Given the description of an element on the screen output the (x, y) to click on. 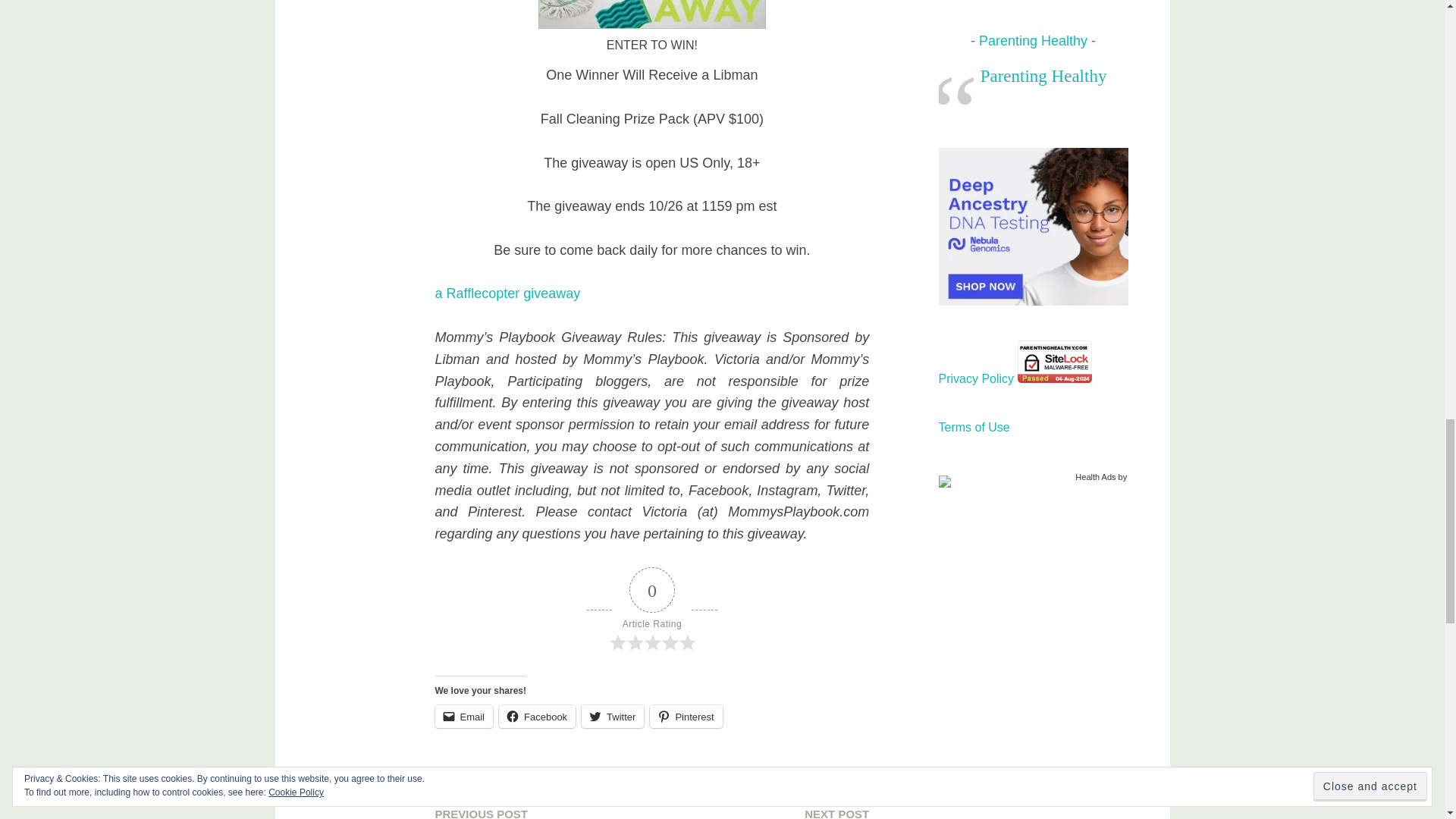
Click to share on Facebook (537, 716)
Click to share on Twitter (611, 716)
Click to share on Pinterest (685, 716)
Click to email a link to a friend (464, 716)
